Given the description of an element on the screen output the (x, y) to click on. 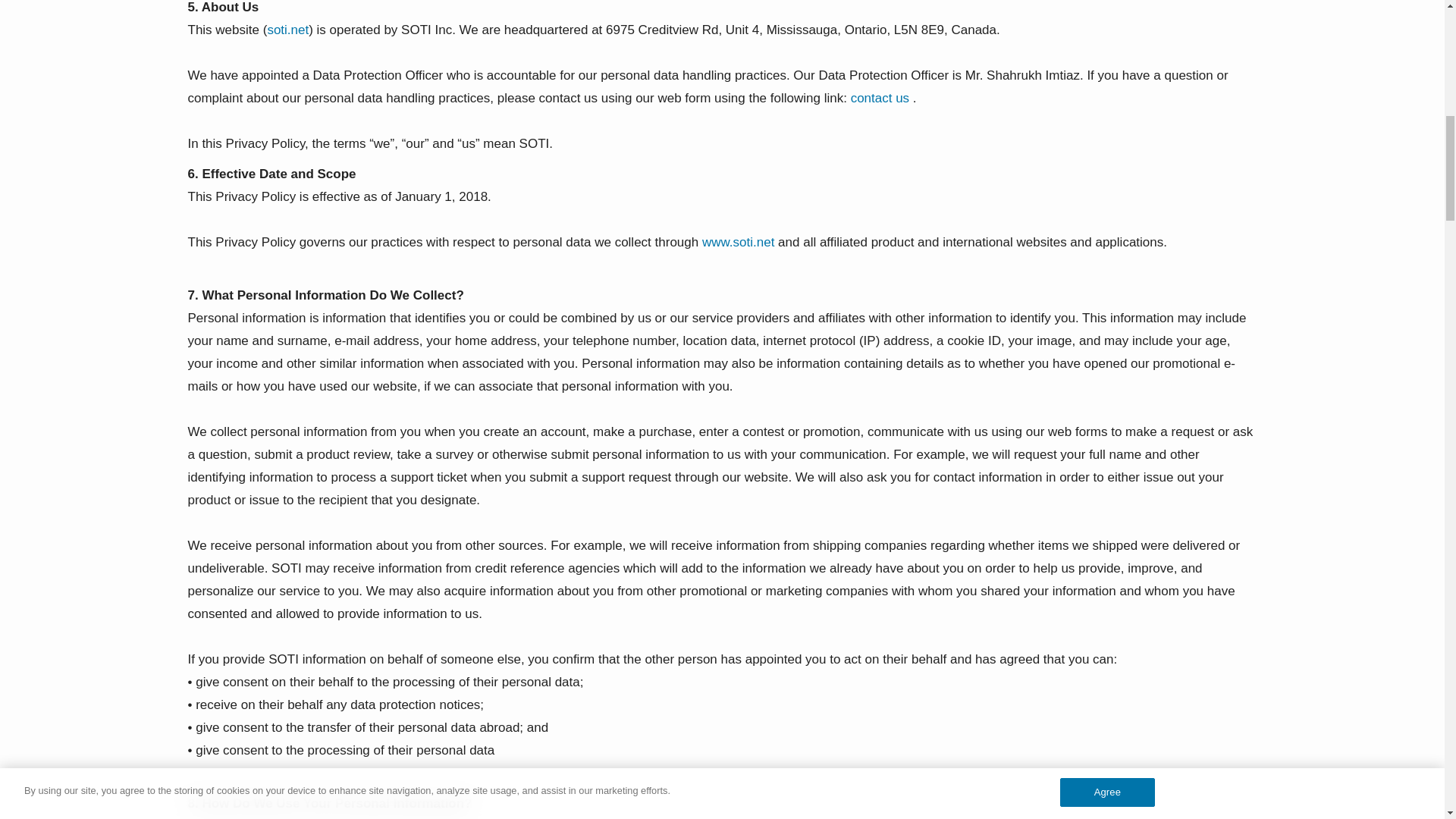
Privacy Request (880, 97)
HomePage (287, 29)
HomePage (737, 242)
